Given the description of an element on the screen output the (x, y) to click on. 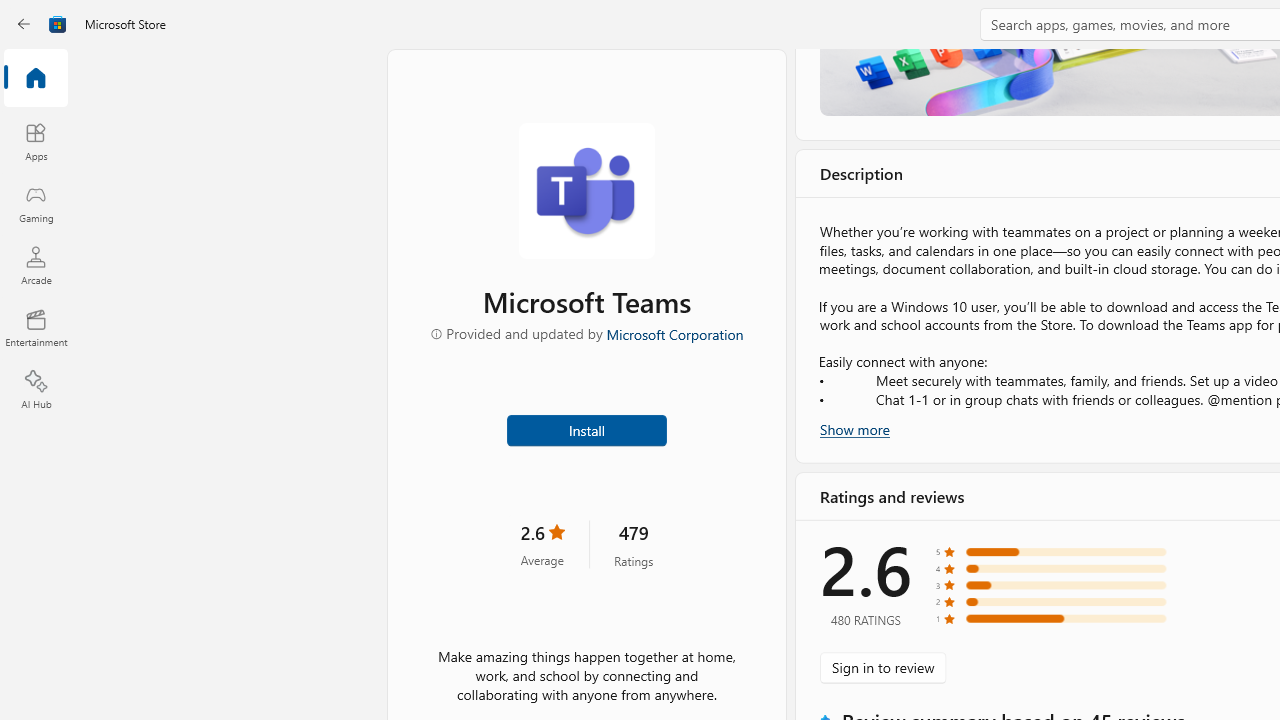
Show more (854, 428)
Install (586, 428)
Entertainment (35, 327)
Microsoft Corporation (673, 333)
Class: Image (58, 24)
Sign in to review (882, 667)
Arcade (35, 265)
Back (24, 24)
Gaming (35, 203)
Home (35, 79)
2.6 stars. Click to skip to ratings and reviews (542, 543)
AI Hub (35, 390)
